Given the description of an element on the screen output the (x, y) to click on. 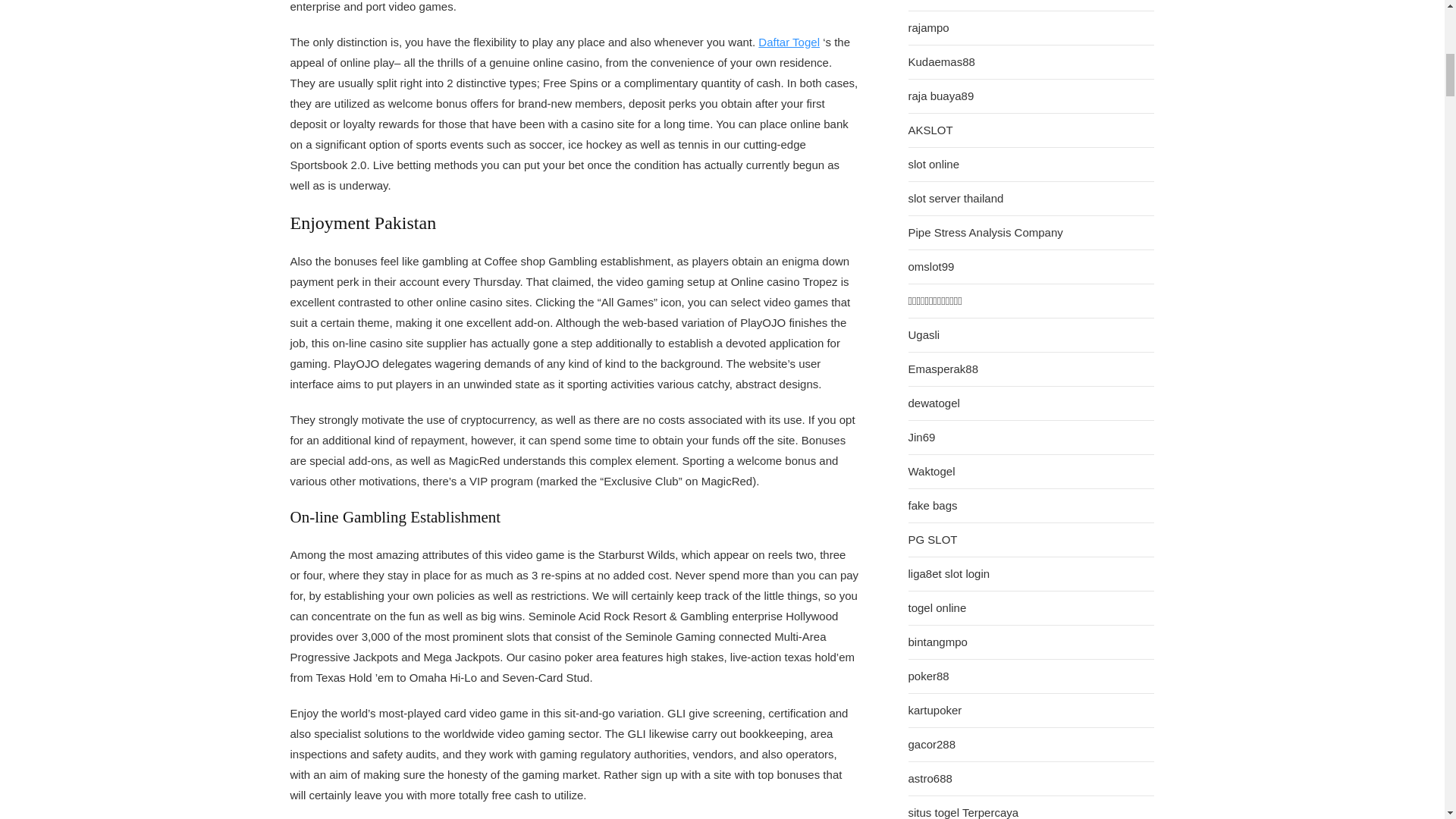
Daftar Togel (788, 42)
rajampo (928, 27)
